Given the description of an element on the screen output the (x, y) to click on. 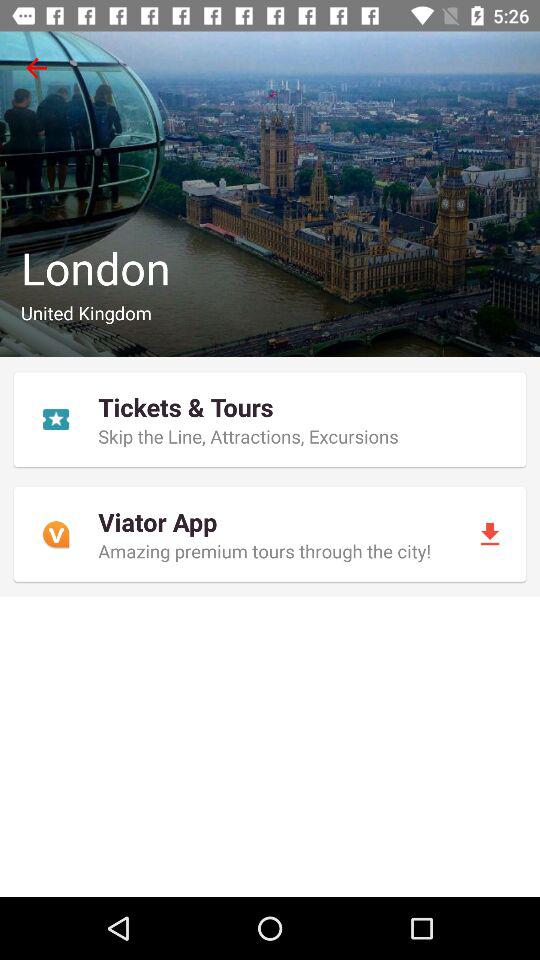
click on tickets  tours (269, 419)
select the star icon (55, 419)
click on the download icon (489, 534)
